Given the description of an element on the screen output the (x, y) to click on. 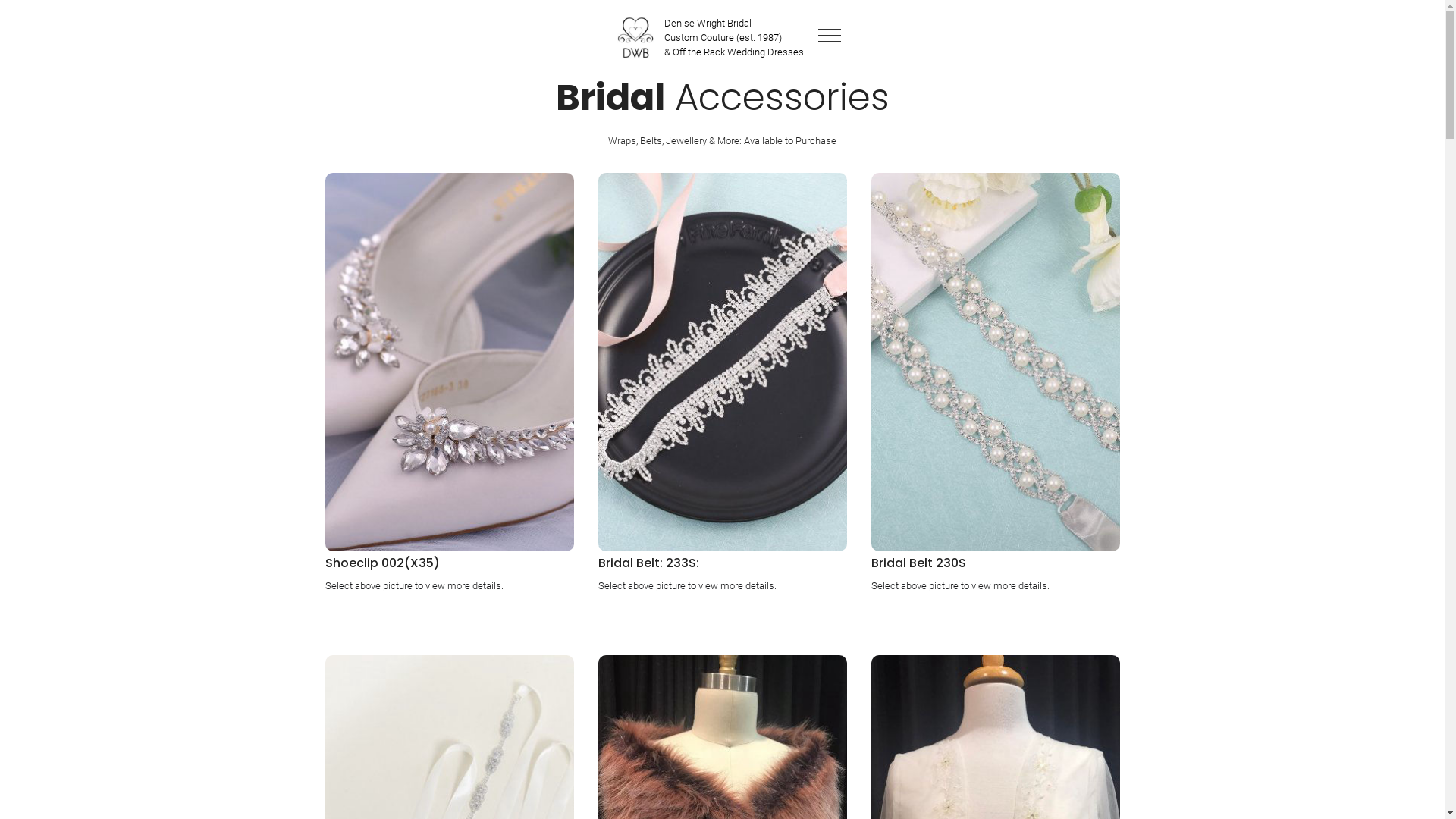
shoeclip 002 Element type: hover (448, 361)
Belt 233S Element type: hover (721, 361)
Denise Wright Bridal Element type: hover (634, 37)
Belt 230S Element type: hover (994, 361)
